Given the description of an element on the screen output the (x, y) to click on. 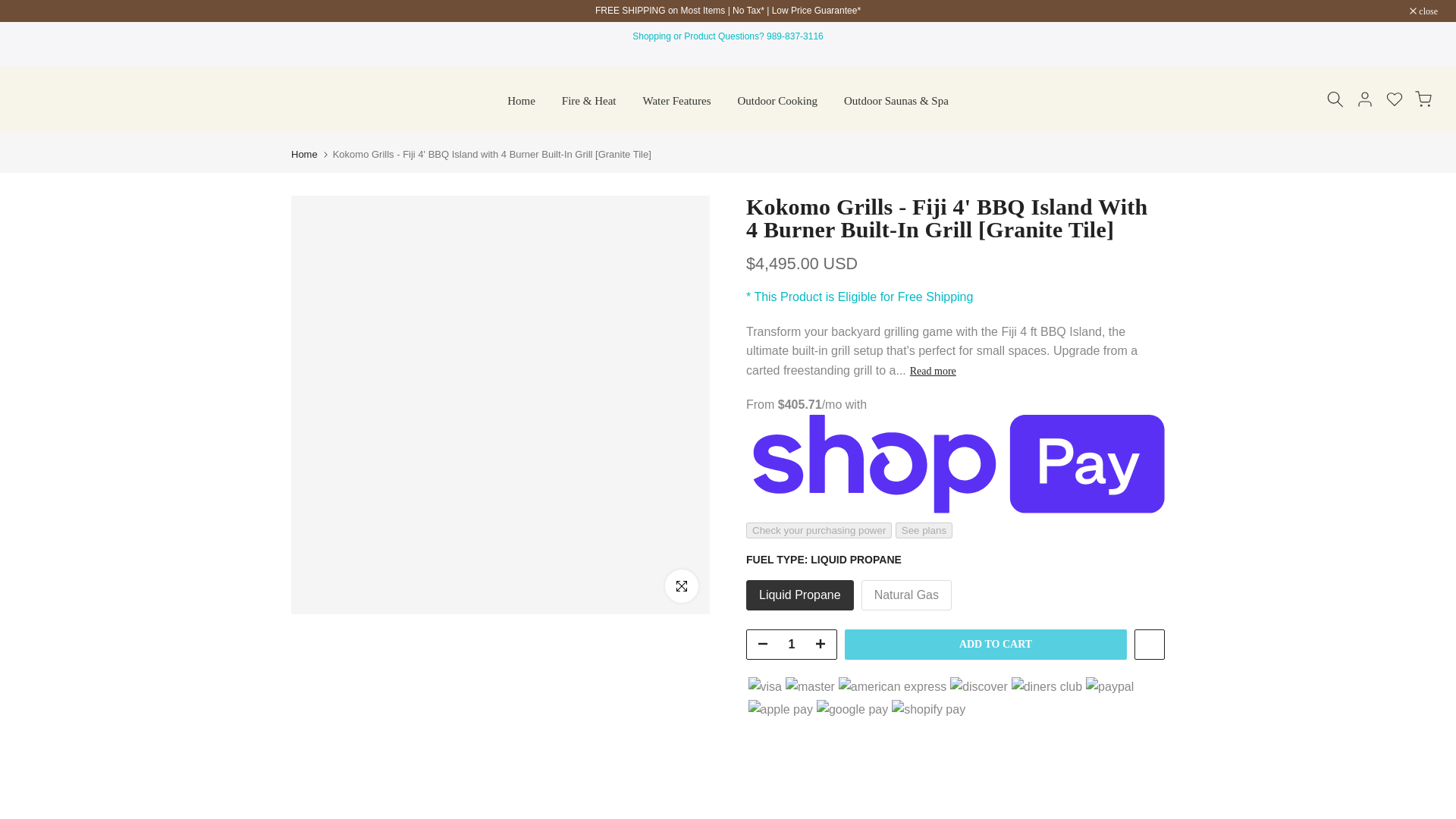
Skip to content (10, 7)
1 (791, 644)
Outdoor Cooking (776, 100)
Home (304, 153)
close (1423, 10)
ADD TO CART (985, 644)
Water Features (675, 100)
Read more (933, 371)
Home (521, 100)
